Given the description of an element on the screen output the (x, y) to click on. 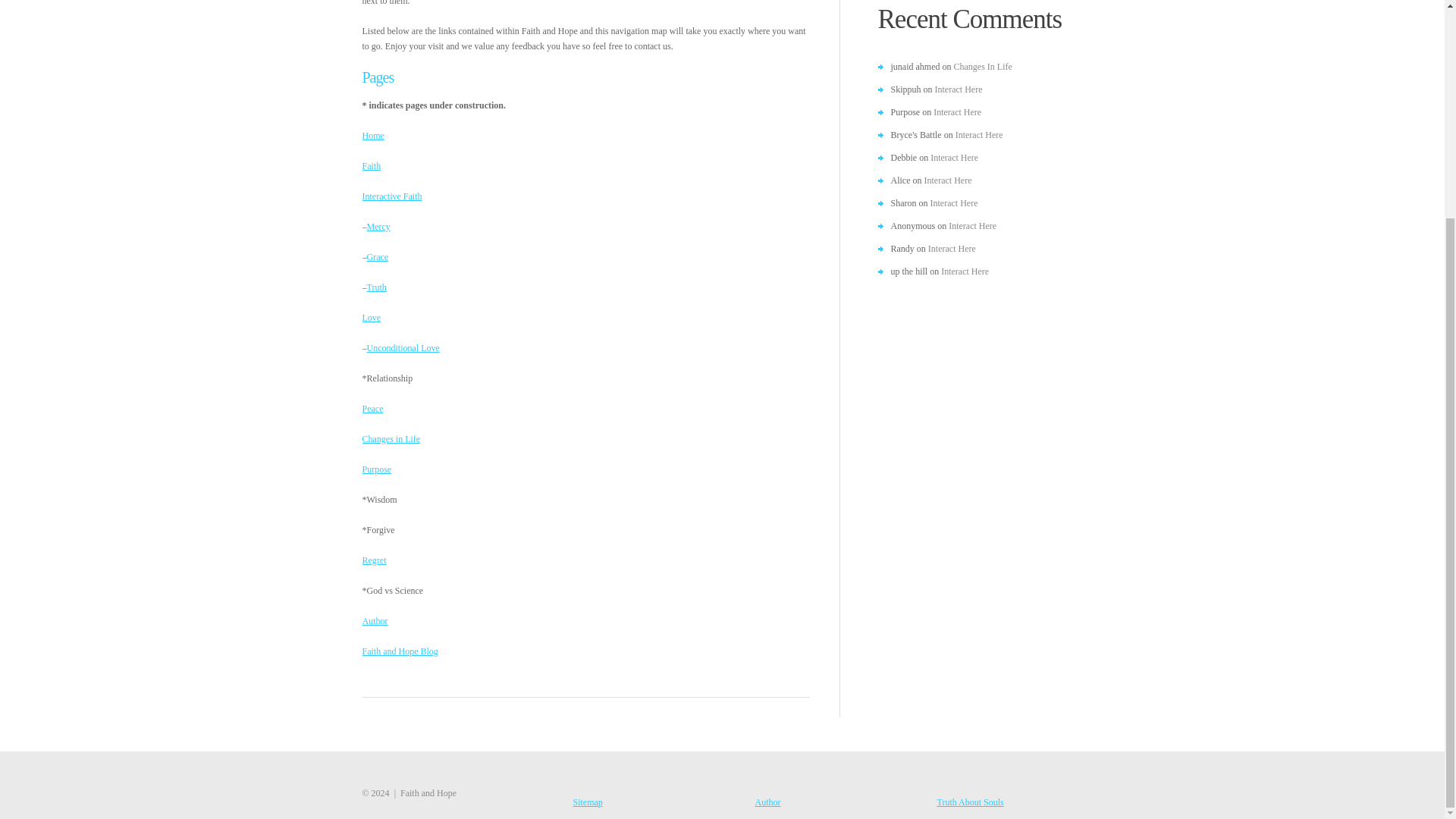
Seek the Truth (376, 286)
Unconditional Love (402, 347)
Home (373, 135)
Inner Peace Quotes (373, 408)
Sitemap (587, 801)
Mercy (378, 226)
Interact Here (958, 89)
Interact Here (951, 248)
Author of Faith and Hope (375, 620)
Interact Here (954, 157)
Interactive Faith (392, 195)
Interact Here (957, 112)
Interact Here (972, 225)
Truth (376, 286)
Changes in Life (391, 439)
